Given the description of an element on the screen output the (x, y) to click on. 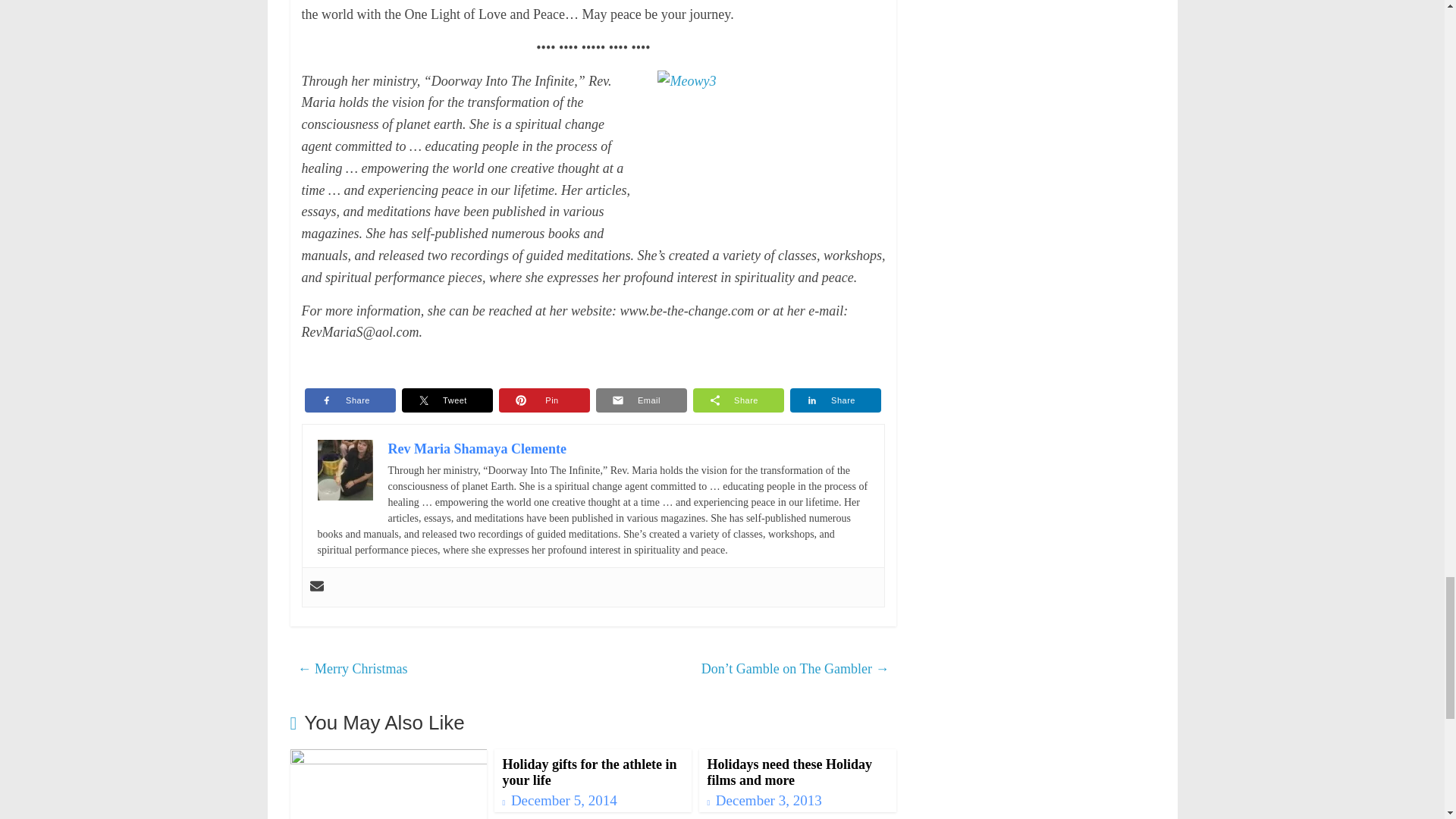
Rev Maria Shamaya Clemente (477, 448)
Holiday gifts for the athlete in your life (589, 772)
Holiday gifts for the athlete in your life (589, 772)
